Given the description of an element on the screen output the (x, y) to click on. 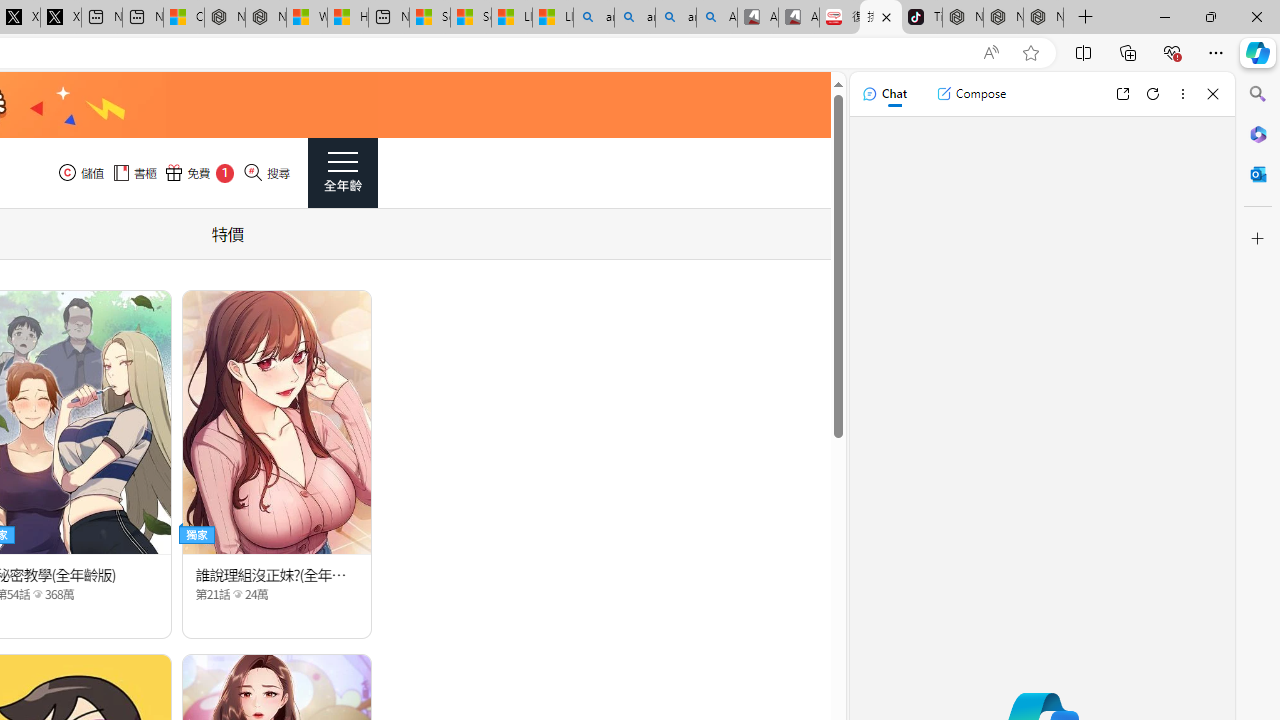
Outlook (1258, 174)
Chat (884, 93)
Class: epicon_starpoint (237, 593)
